Given the description of an element on the screen output the (x, y) to click on. 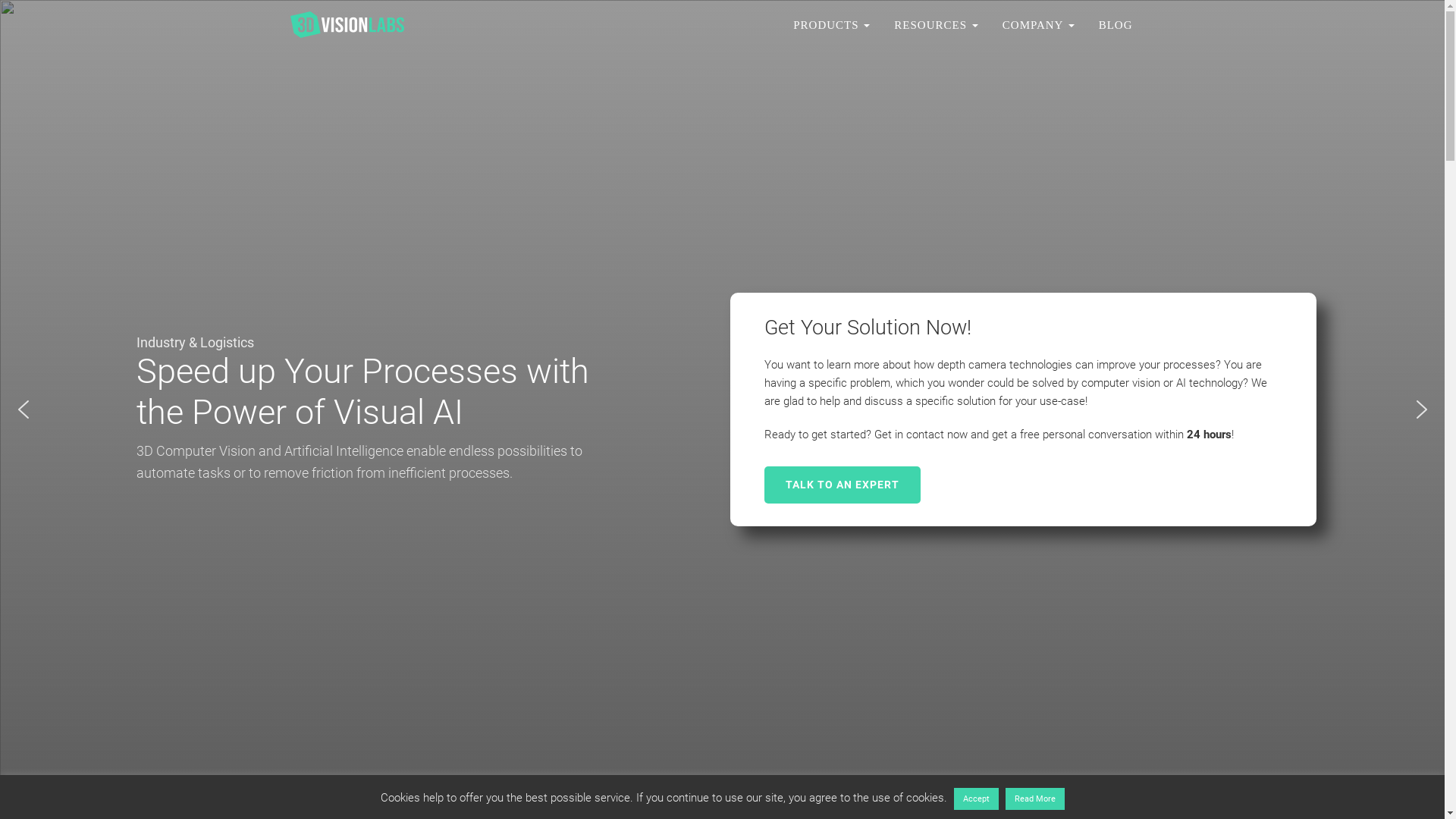
3dvisionlabs Element type: text (346, 24)
COMPANY Element type: text (1038, 24)
RESOURCES Element type: text (935, 24)
Accept Element type: text (975, 798)
TALK TO AN EXPERT Element type: text (842, 484)
BLOG Element type: text (1115, 24)
Read More Element type: text (1034, 798)
PRODUCTS Element type: text (831, 24)
